Given the description of an element on the screen output the (x, y) to click on. 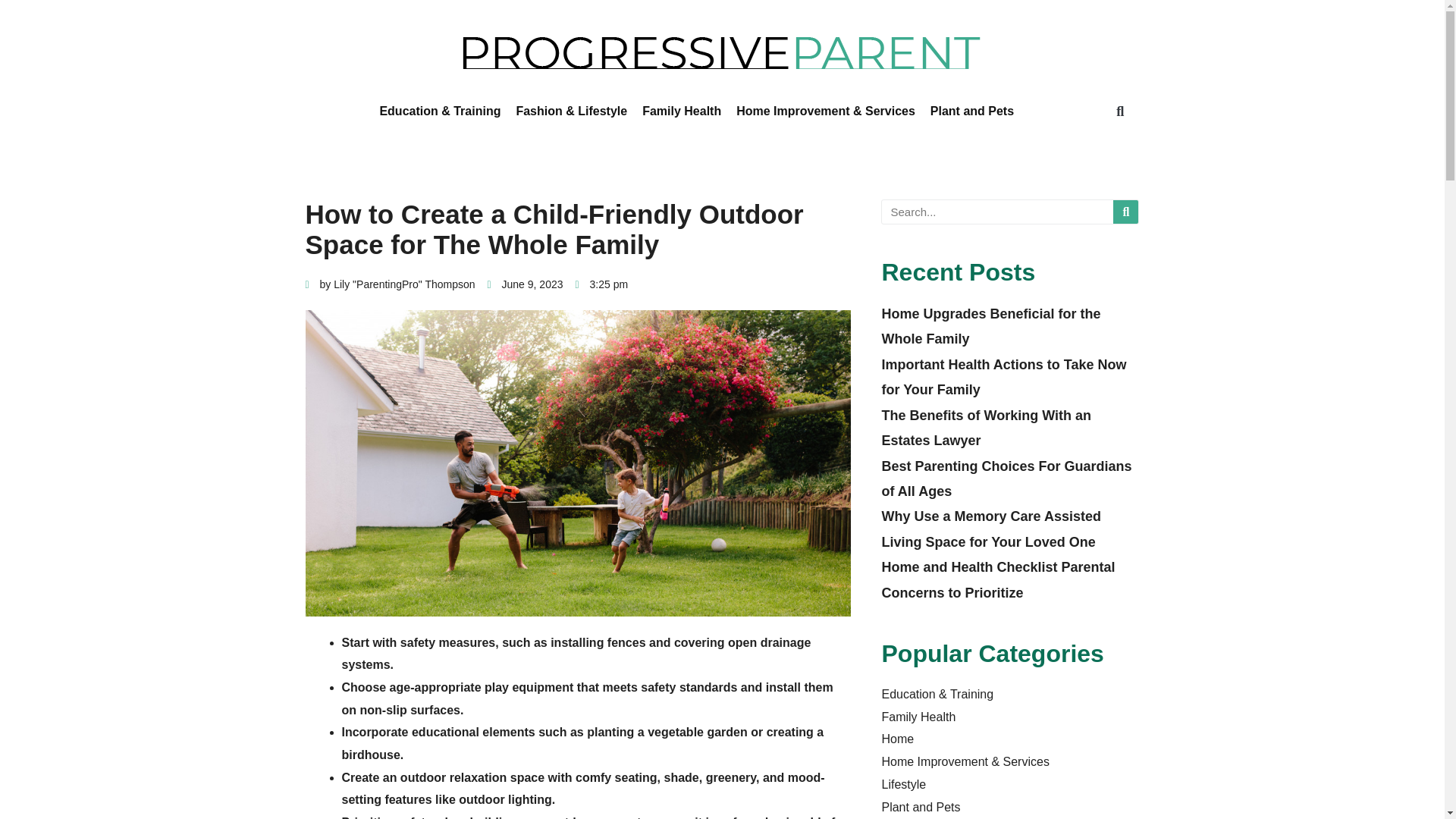
by Lily "ParentingPro" Thompson (389, 284)
June 9, 2023 (525, 284)
Family Health (917, 716)
The Benefits of Working With an Estates Lawyer (985, 427)
Home and Health Checklist Parental Concerns to Prioritize (997, 579)
Important Health Actions to Take Now for Your Family (1002, 377)
Home Upgrades Beneficial for the Whole Family (990, 326)
Plant and Pets (971, 110)
Best Parenting Choices For Guardians of All Ages (1005, 478)
Family Health (681, 110)
Search (1125, 211)
